Given the description of an element on the screen output the (x, y) to click on. 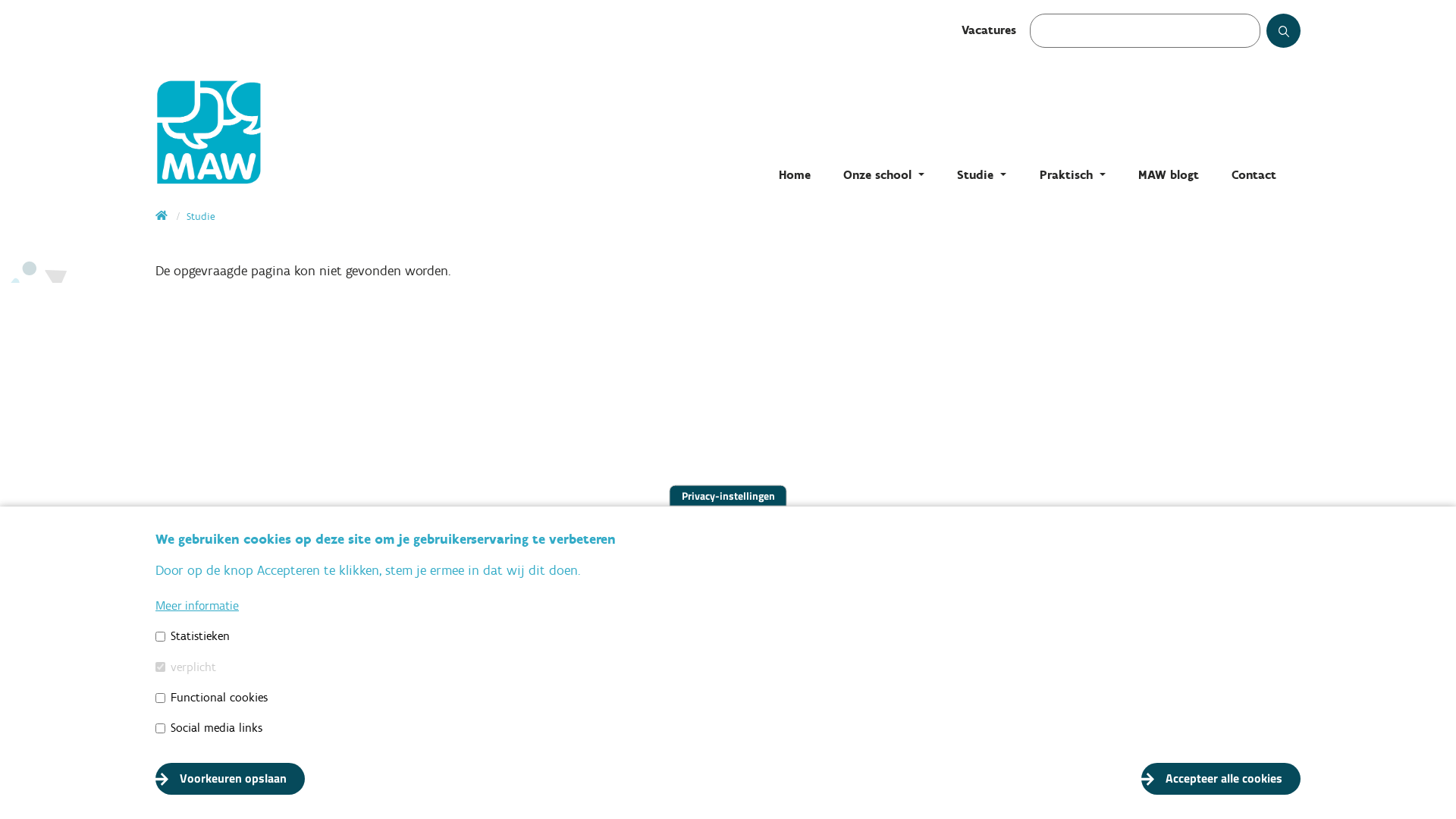
Meer informatie Element type: text (196, 605)
info@atheneumwoluwe.be Element type: text (267, 718)
Zoeken Element type: text (1297, 35)
Ga naar de homepage Element type: hover (306, 128)
Home Element type: text (162, 216)
Accepteer alle cookies Element type: text (1220, 778)
Praktisch Element type: text (1072, 174)
Contact Element type: text (1253, 174)
Onze school Element type: text (883, 174)
Toestemming intrekken Element type: text (1319, 770)
Home Element type: text (794, 174)
Naar de inhoud Element type: text (0, 0)
MAW blogt Element type: text (1168, 174)
Voorkeuren opslaan Element type: text (229, 778)
Studie Element type: text (200, 216)
Paddle CMS Platform Element type: hover (1262, 794)
Vacatures Element type: text (988, 29)
Studie Element type: text (981, 174)
02/771 37 42 Element type: text (225, 694)
Privacy-instellingen Element type: text (727, 495)
